Given the description of an element on the screen output the (x, y) to click on. 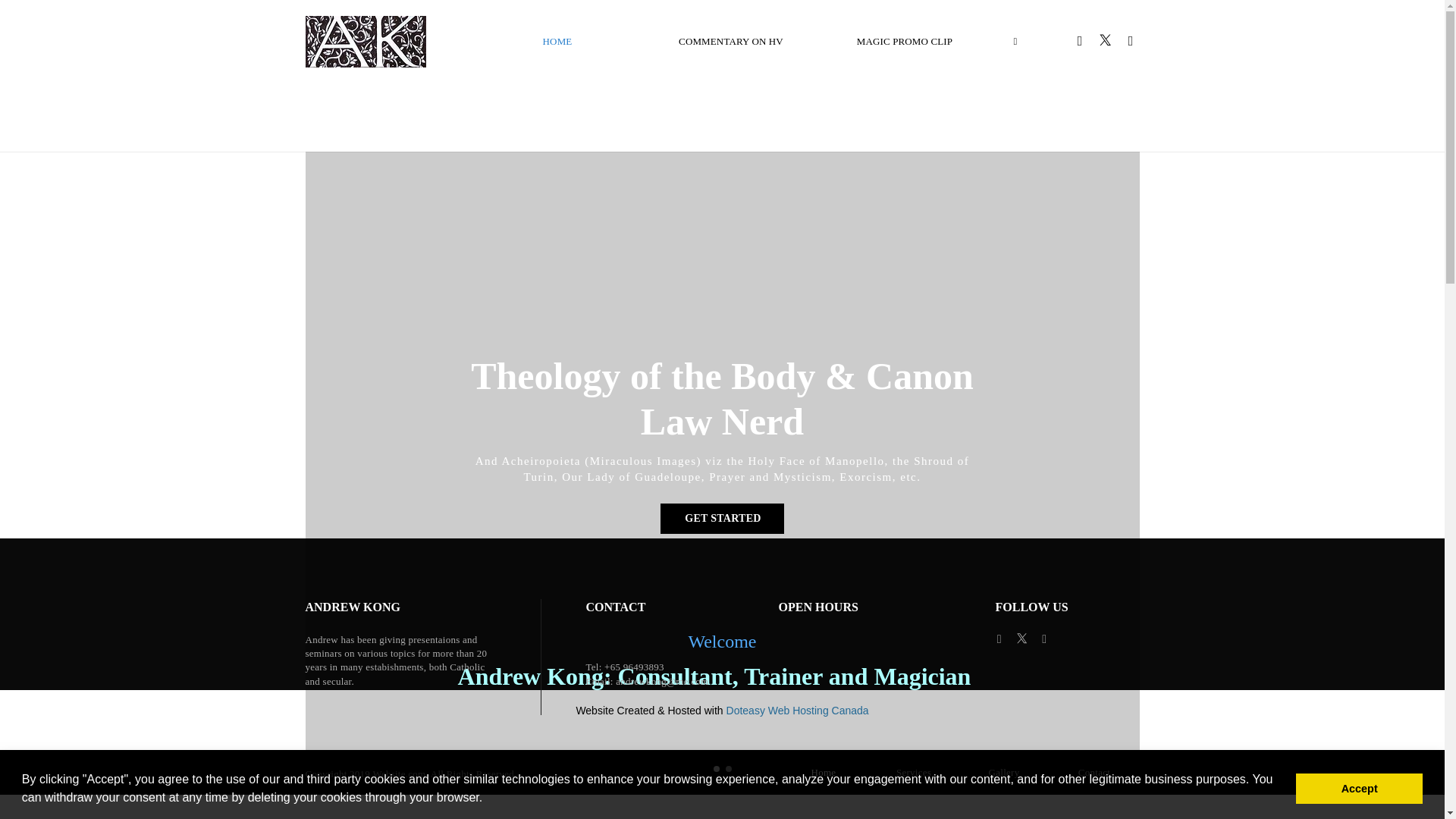
Services (914, 772)
COMMENTARY ON HV (731, 40)
MAGIC PROMO CLIP (903, 40)
Gallery (1003, 772)
Contact (1094, 772)
Home (822, 772)
HOME (556, 40)
Accept (1358, 788)
